Given the description of an element on the screen output the (x, y) to click on. 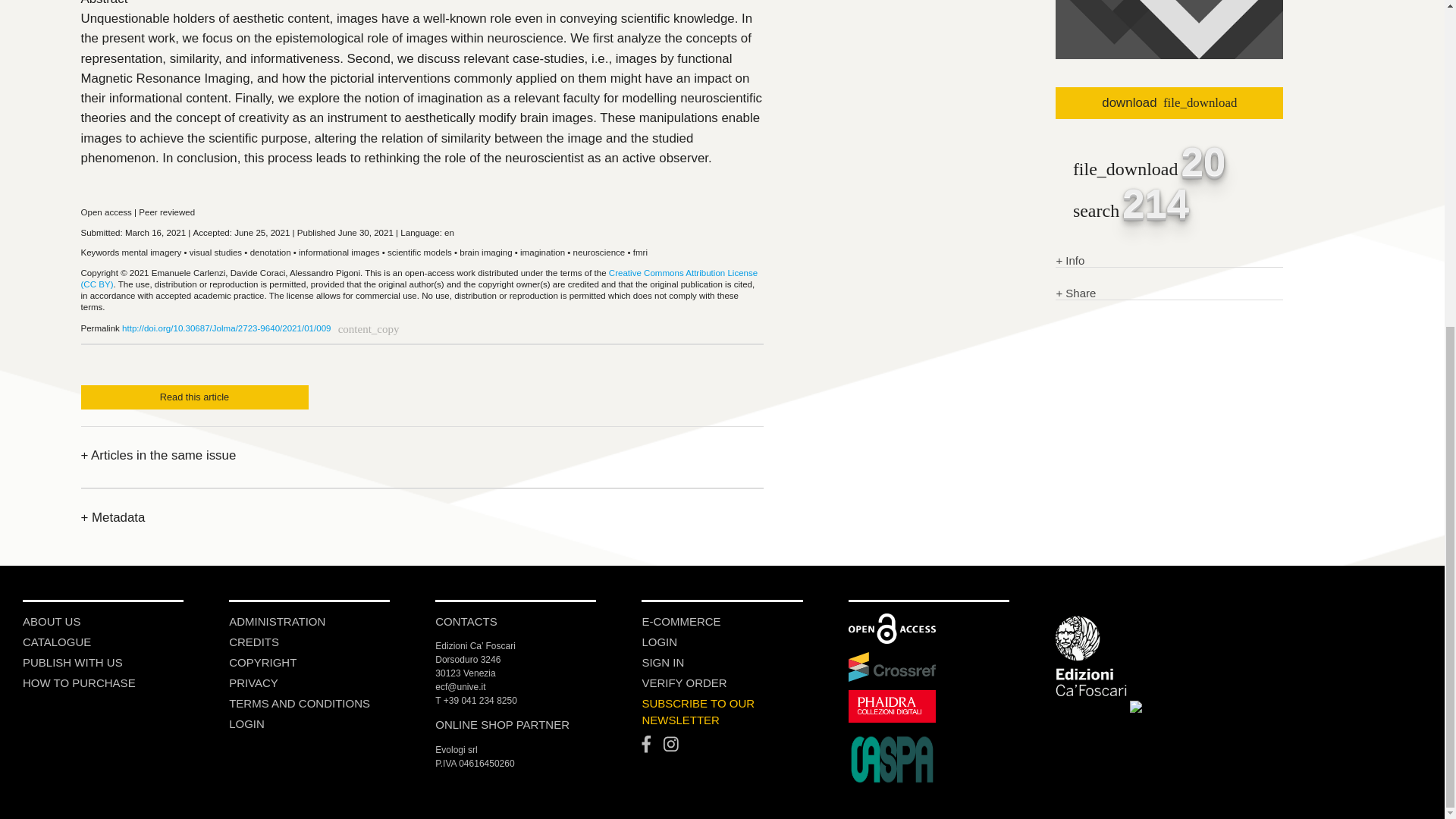
mental imagery (150, 252)
informational images (339, 252)
Peer reviewed (166, 212)
visual studies (215, 252)
Read this article (193, 396)
neuroscience (599, 252)
imagination (541, 252)
fmri (640, 252)
Open access (105, 212)
brain imaging (486, 252)
denotation (270, 252)
scientific models (419, 252)
